Given the description of an element on the screen output the (x, y) to click on. 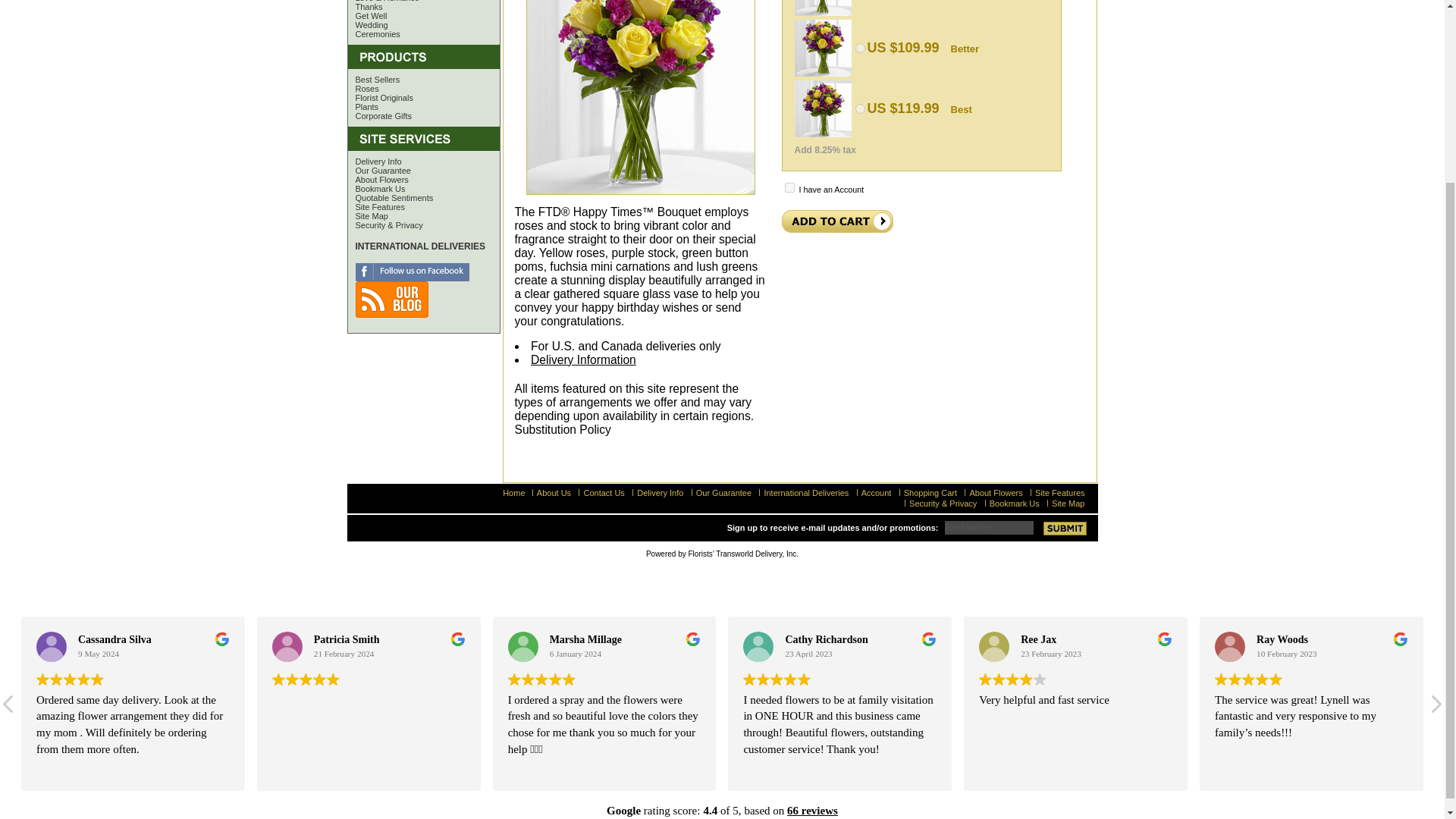
Yes (788, 187)
Email address (988, 526)
